Given the description of an element on the screen output the (x, y) to click on. 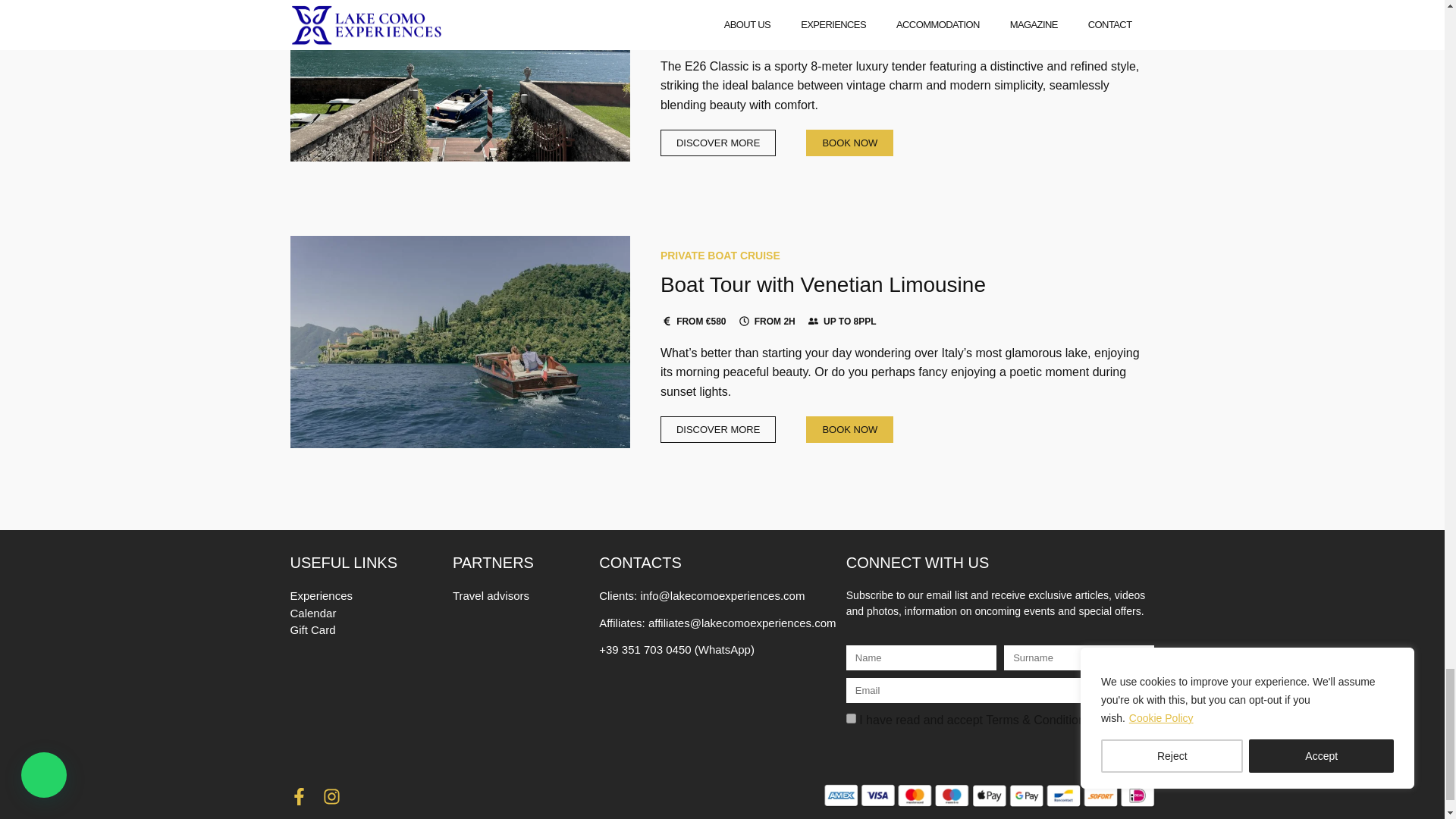
on (850, 718)
